Given the description of an element on the screen output the (x, y) to click on. 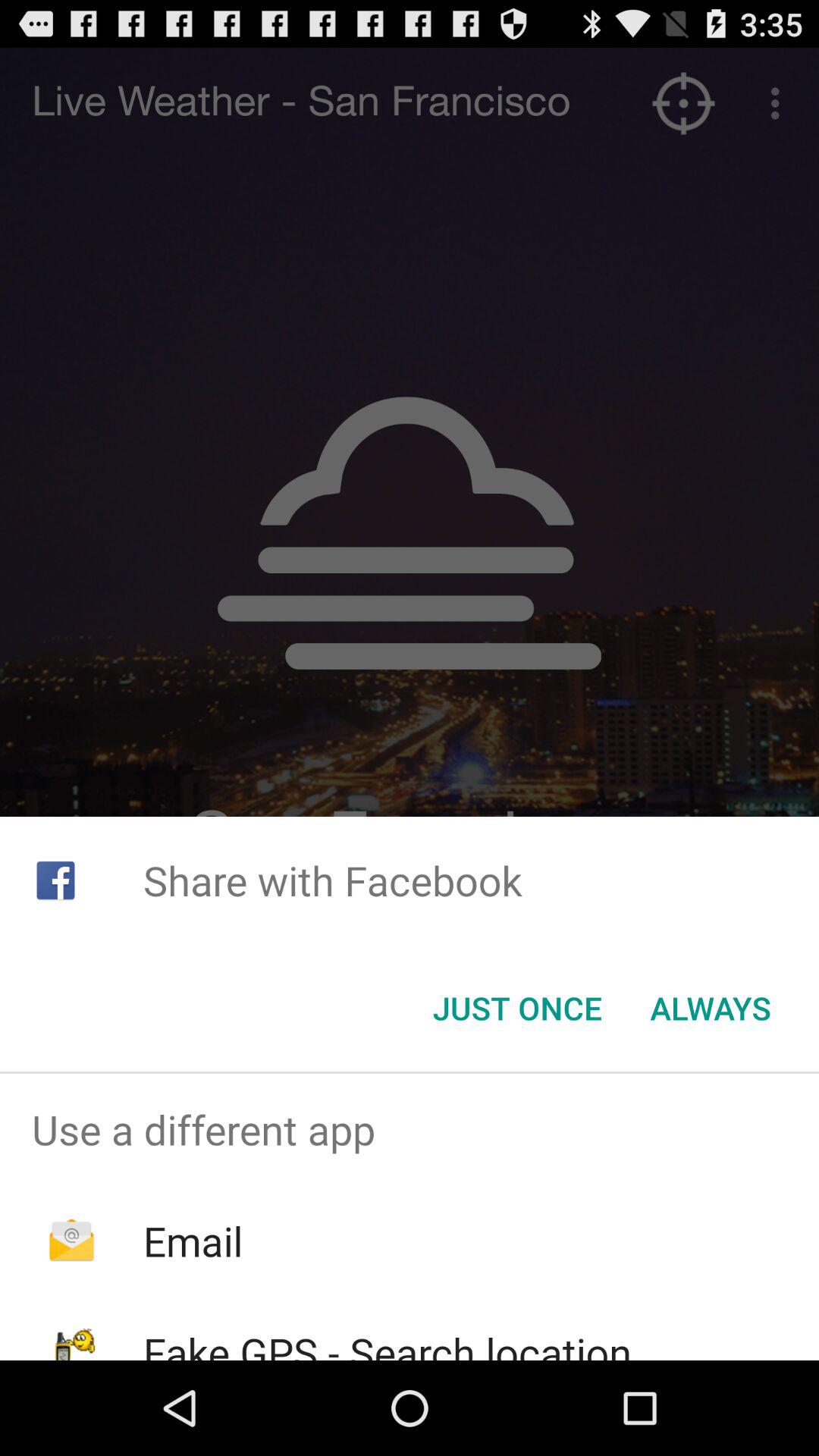
flip to the fake gps search (387, 1342)
